Given the description of an element on the screen output the (x, y) to click on. 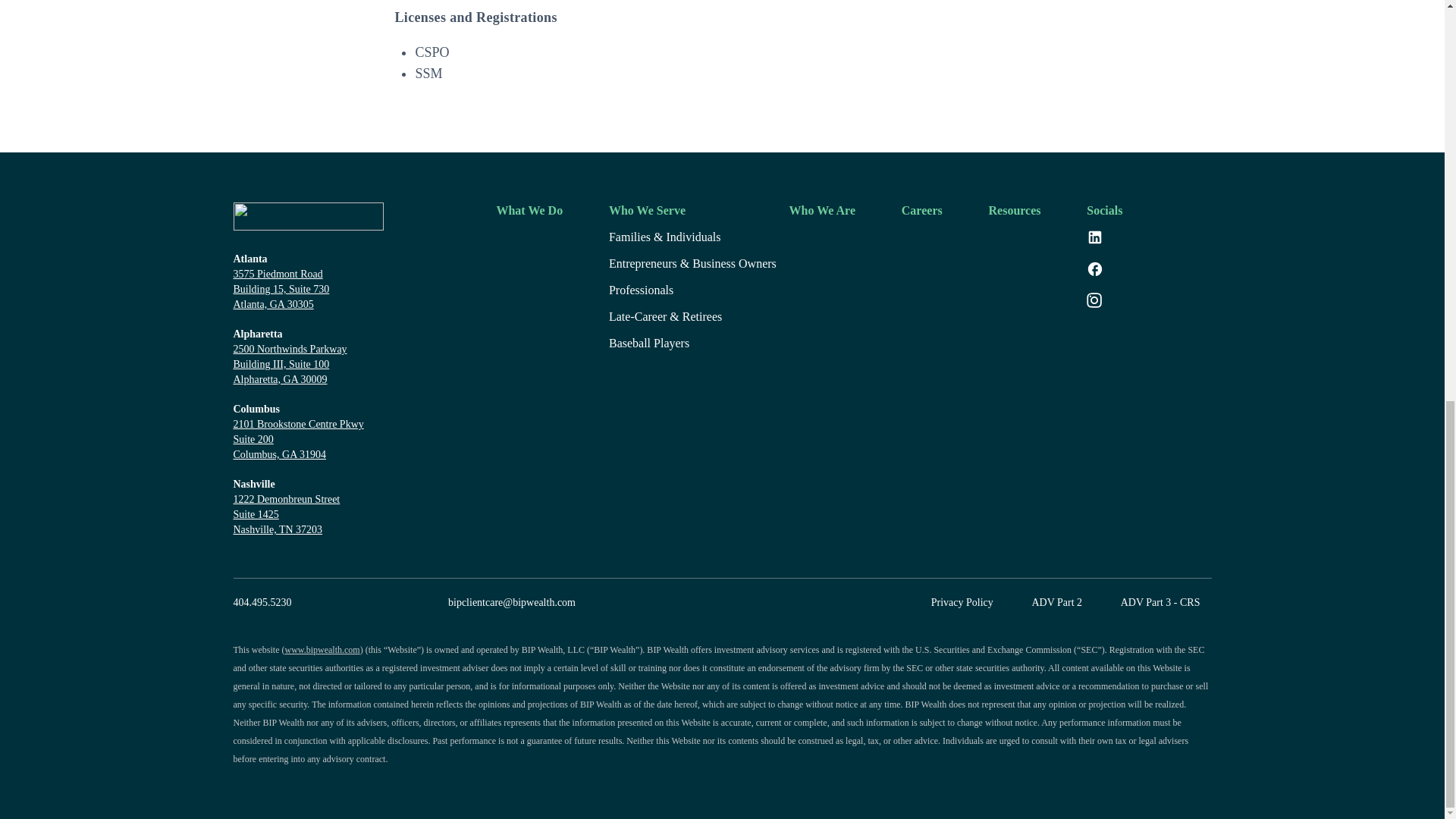
404.495.5230 (262, 602)
ADV Part 2 (1055, 602)
ADV Part 3 - CRS (1160, 602)
Who We Are (822, 210)
Careers (921, 210)
What We Do (529, 210)
www.bipwealth.com (322, 649)
Resources (1014, 210)
Privacy Policy (961, 602)
